Given the description of an element on the screen output the (x, y) to click on. 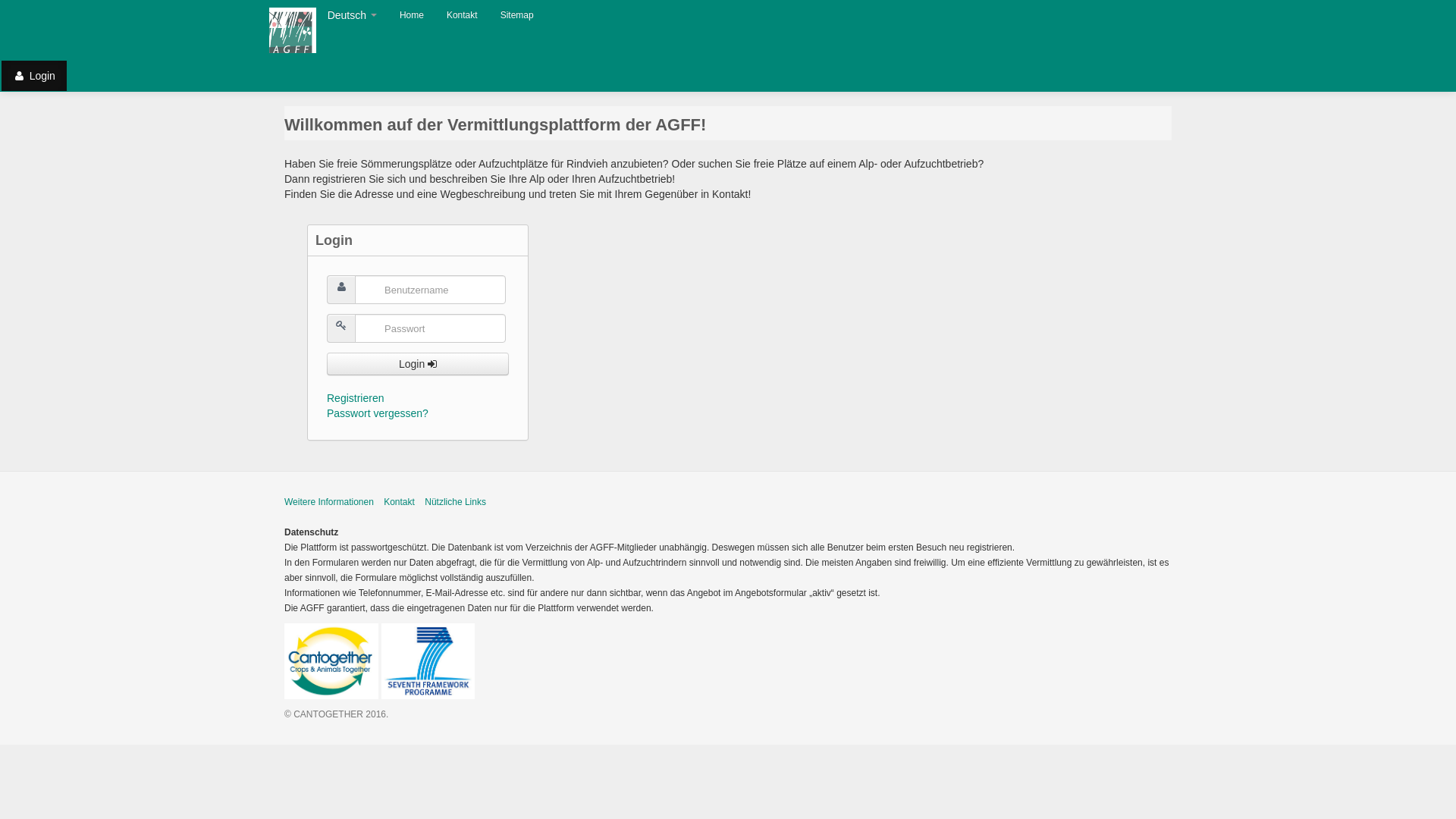
Kontakt Element type: text (398, 501)
Home Element type: text (411, 15)
Sitemap Element type: text (517, 15)
Login  Element type: text (417, 363)
 Login Element type: text (33, 75)
Weitere Informationen Element type: text (328, 501)
Kontakt Element type: text (462, 15)
Deutsch Element type: text (352, 15)
Passwort vergessen? Element type: text (377, 413)
Registrieren Element type: text (354, 398)
